Given the description of an element on the screen output the (x, y) to click on. 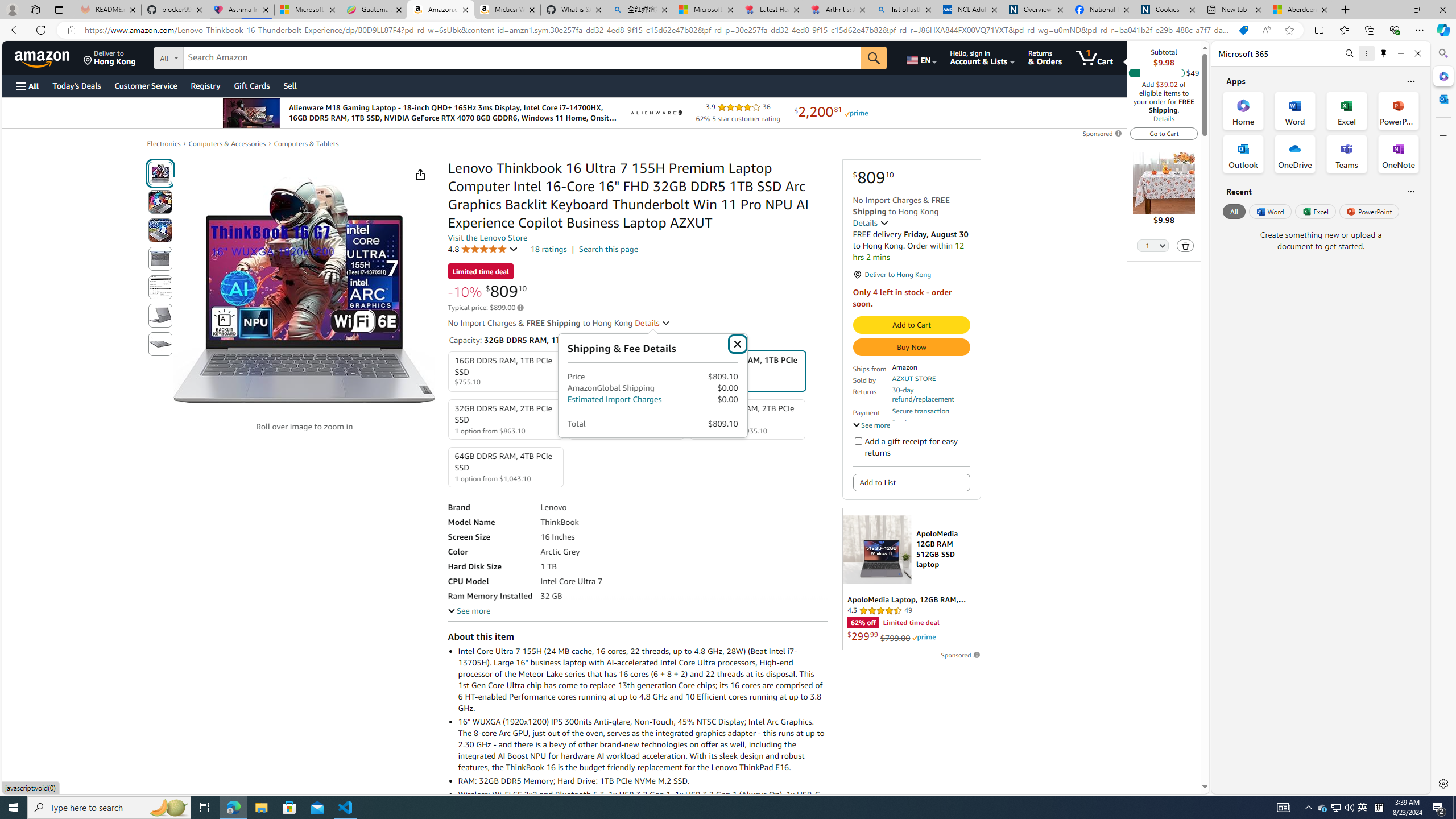
16GB DDR5 RAM, 512GB PCIe SSD 1 option from $799.00 (626, 371)
Choose a language for shopping. (920, 57)
PowerPoint Office App (1398, 110)
Delete (1185, 245)
Add to List (911, 482)
AZXUT STORE (913, 378)
32GB DDR5 RAM, 1TB PCIe SSD $809.10 (747, 370)
